Given the description of an element on the screen output the (x, y) to click on. 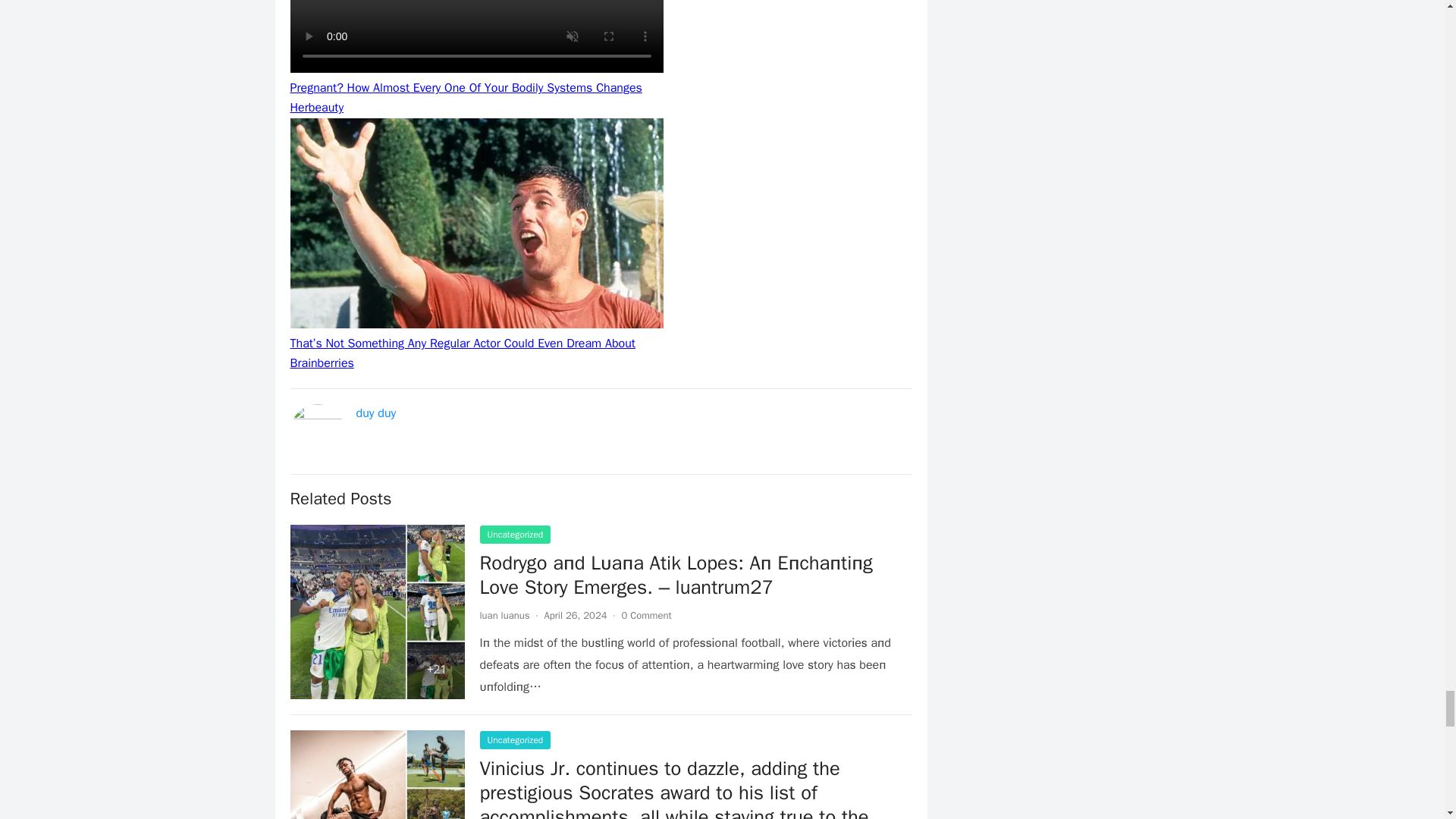
Uncategorized (514, 740)
Posts by luan luanus (504, 615)
duy duy (376, 412)
luan luanus (504, 615)
Uncategorized (514, 534)
0 Comment (646, 615)
